Given the description of an element on the screen output the (x, y) to click on. 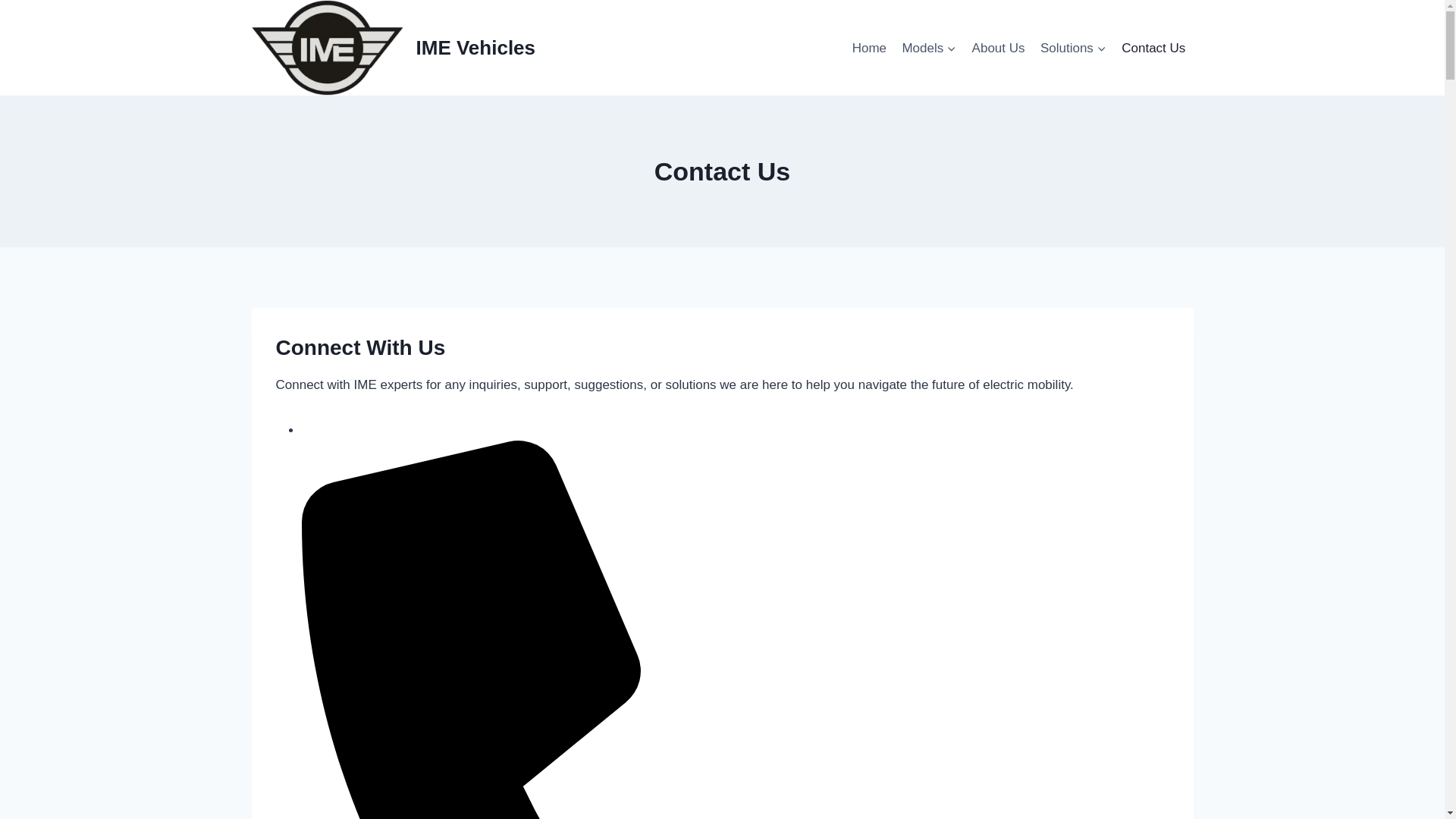
Models (928, 47)
About Us (997, 47)
IME Vehicles (393, 47)
Contact Us (1152, 47)
Home (868, 47)
Solutions (1072, 47)
